Given the description of an element on the screen output the (x, y) to click on. 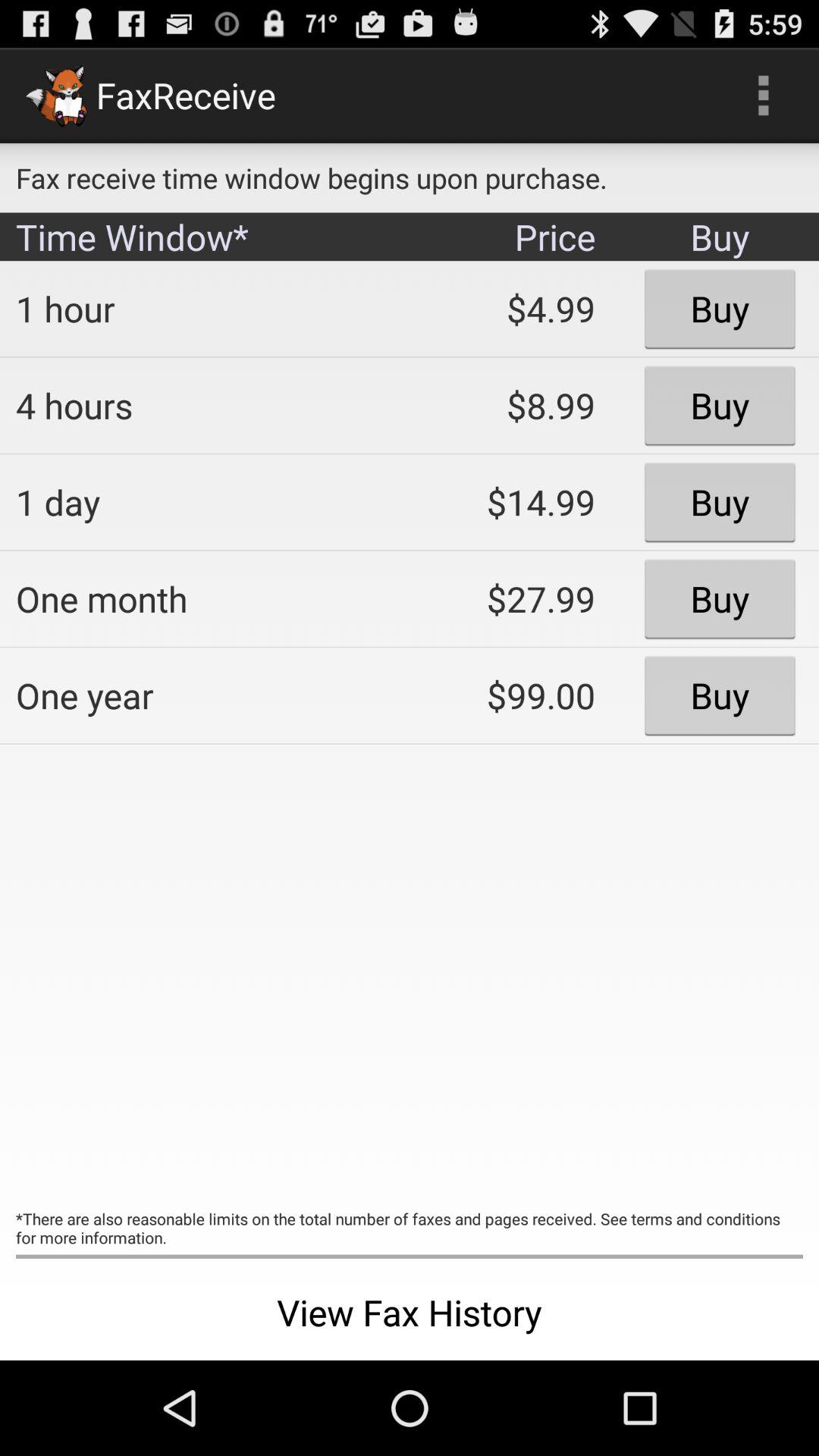
tap the item next to the $14.99 (201, 598)
